Given the description of an element on the screen output the (x, y) to click on. 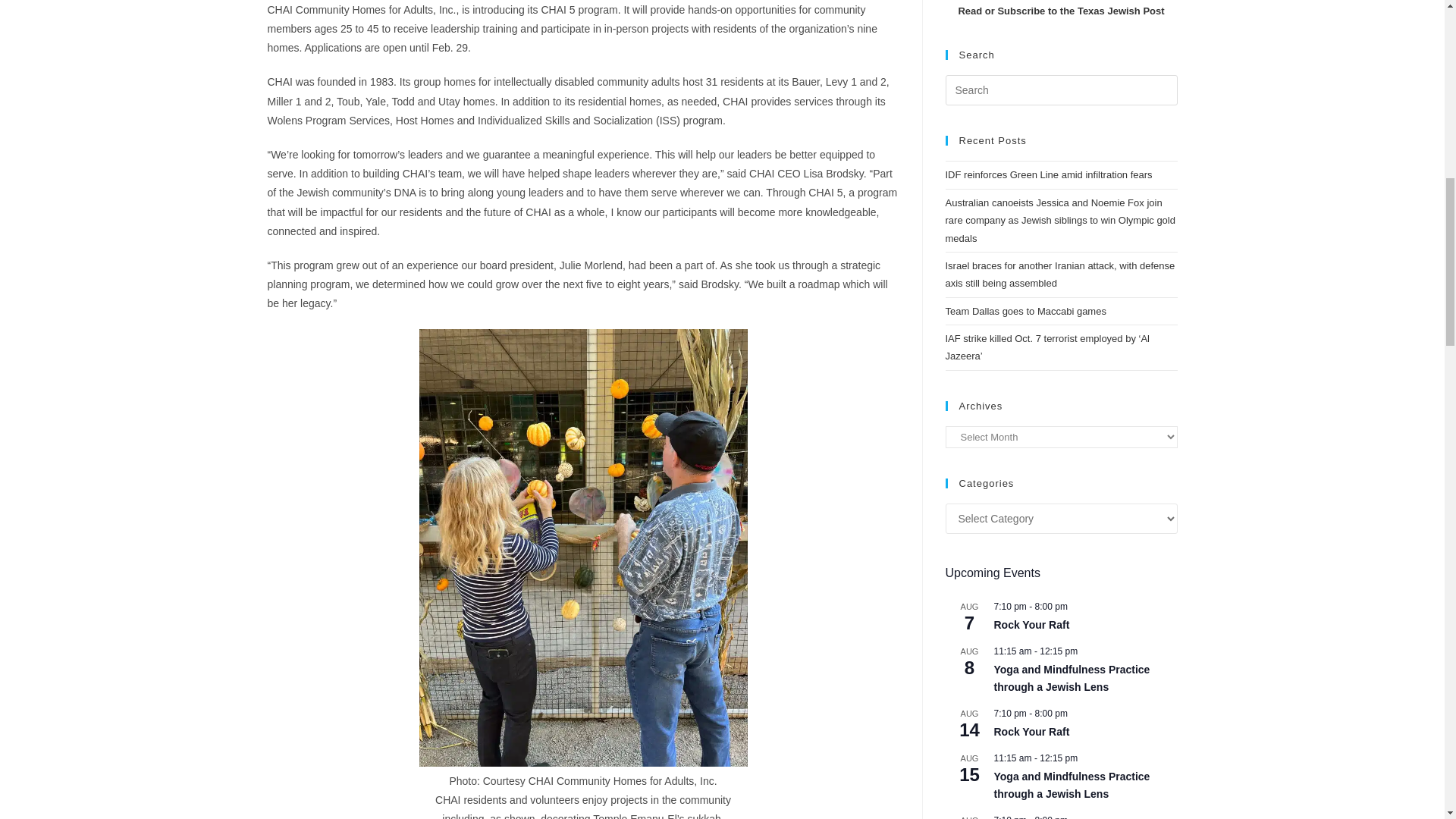
Yoga and Mindfulness Practice through a Jewish Lens (1071, 678)
Read or Subscribe to the Texas Jewish Post e-Edition (1060, 10)
Rock Your Raft (1030, 731)
Rock Your Raft (1030, 625)
Yoga and Mindfulness Practice through a Jewish Lens (1071, 785)
